Given the description of an element on the screen output the (x, y) to click on. 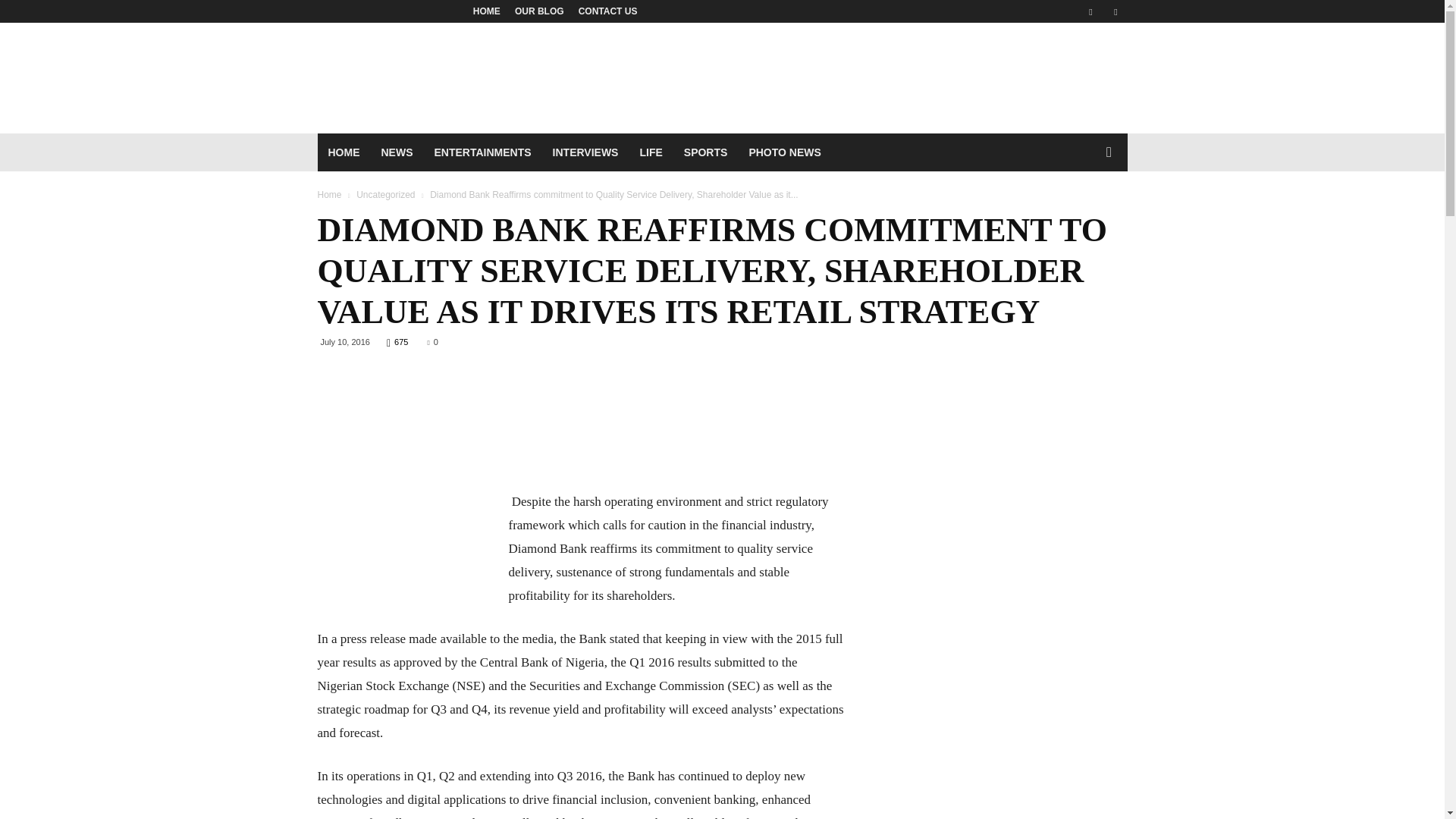
HOME (486, 10)
SPORTS (705, 152)
NEWS (396, 152)
Search (1080, 213)
0 (432, 341)
Twitter (1114, 11)
Integrity Reporters (445, 108)
ENTERTAINMENTS (482, 152)
INTERVIEWS (584, 152)
PHOTO NEWS (784, 152)
